Given the description of an element on the screen output the (x, y) to click on. 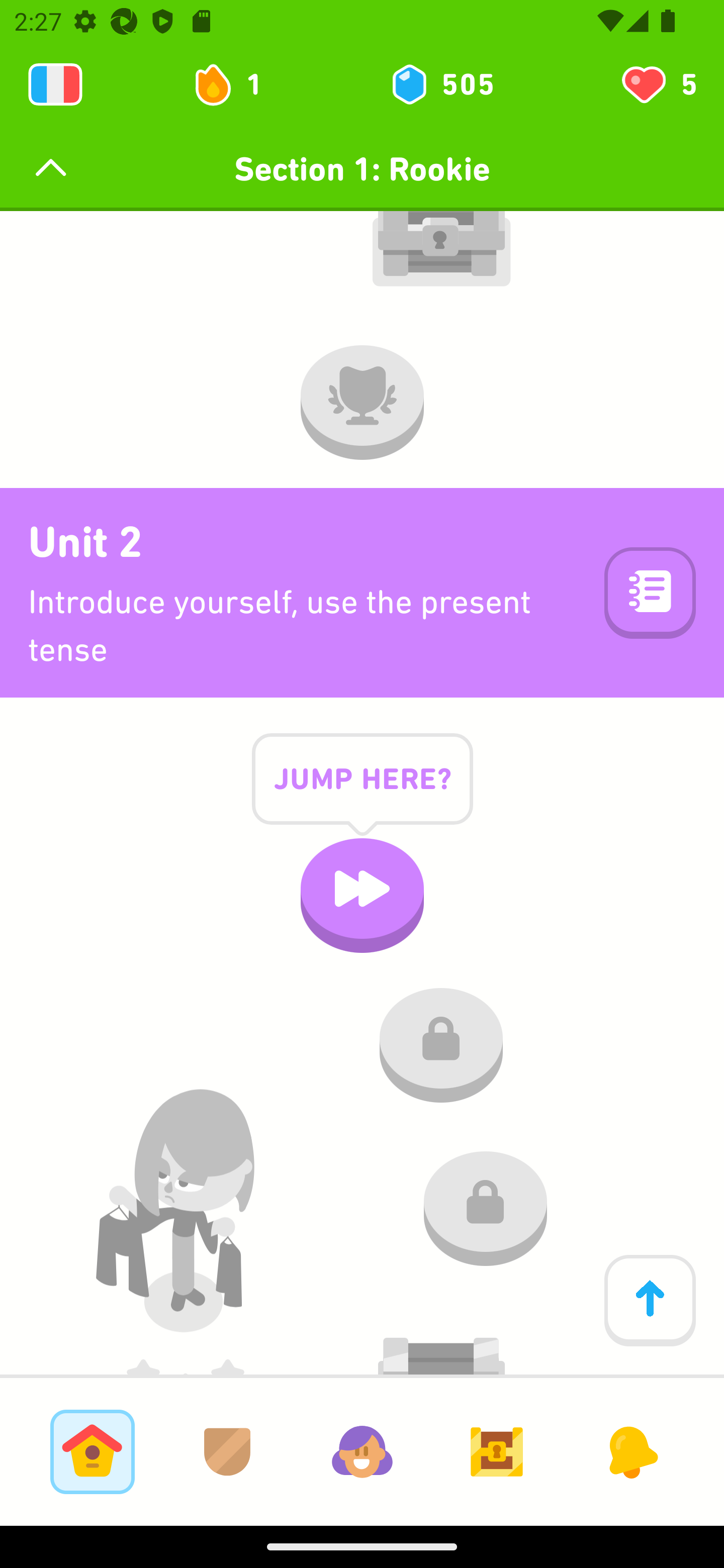
Learning 2131888976 (55, 84)
1 day streak 1 (236, 84)
505 (441, 84)
You have 5 hearts left 5 (657, 84)
Section 1: Rookie (362, 169)
JUMP HERE? (361, 794)
Learn Tab (91, 1451)
Leagues Tab (227, 1451)
Profile Tab (361, 1451)
Goals Tab (496, 1451)
News Tab (631, 1451)
